Given the description of an element on the screen output the (x, y) to click on. 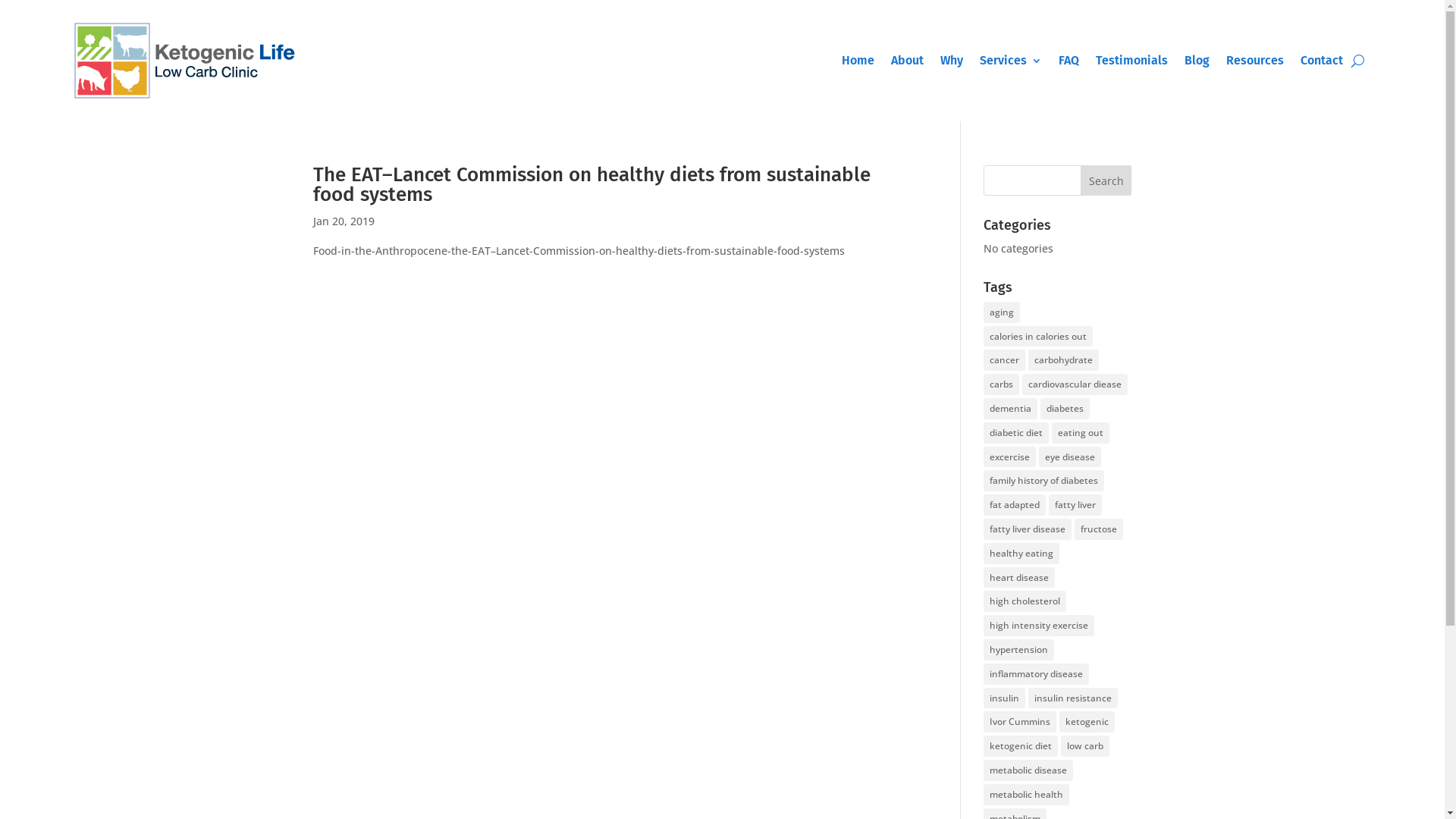
ketogenic diet Element type: text (1020, 745)
excercise Element type: text (1009, 456)
eye disease Element type: text (1069, 456)
About Element type: text (907, 60)
aging Element type: text (1001, 312)
Services Element type: text (1010, 60)
calories in calories out Element type: text (1037, 336)
fat adapted Element type: text (1014, 504)
fatty liver disease Element type: text (1027, 528)
ketogenic Element type: text (1086, 721)
dementia Element type: text (1010, 408)
Ivor Cummins Element type: text (1019, 721)
carbohydrate Element type: text (1063, 359)
metabolic health Element type: text (1026, 794)
eating out Element type: text (1080, 432)
cardiovascular diease Element type: text (1074, 384)
metabolic disease Element type: text (1028, 770)
high intensity exercise Element type: text (1038, 625)
insulin Element type: text (1004, 698)
hypertension Element type: text (1018, 649)
low carb Element type: text (1084, 745)
carbs Element type: text (1001, 384)
high cholesterol Element type: text (1024, 600)
diabetes Element type: text (1064, 408)
fructose Element type: text (1098, 528)
insulin resistance Element type: text (1072, 698)
diabetic diet Element type: text (1015, 432)
Resources Element type: text (1254, 60)
inflammatory disease Element type: text (1035, 673)
Home Element type: text (857, 60)
healthy eating Element type: text (1021, 553)
Search Element type: text (1106, 180)
cancer Element type: text (1004, 359)
Testimonials Element type: text (1131, 60)
family history of diabetes Element type: text (1043, 480)
Blog Element type: text (1196, 60)
Contact Element type: text (1321, 60)
fatty liver Element type: text (1074, 504)
heart disease Element type: text (1018, 577)
Why Element type: text (951, 60)
FAQ Element type: text (1068, 60)
